Given the description of an element on the screen output the (x, y) to click on. 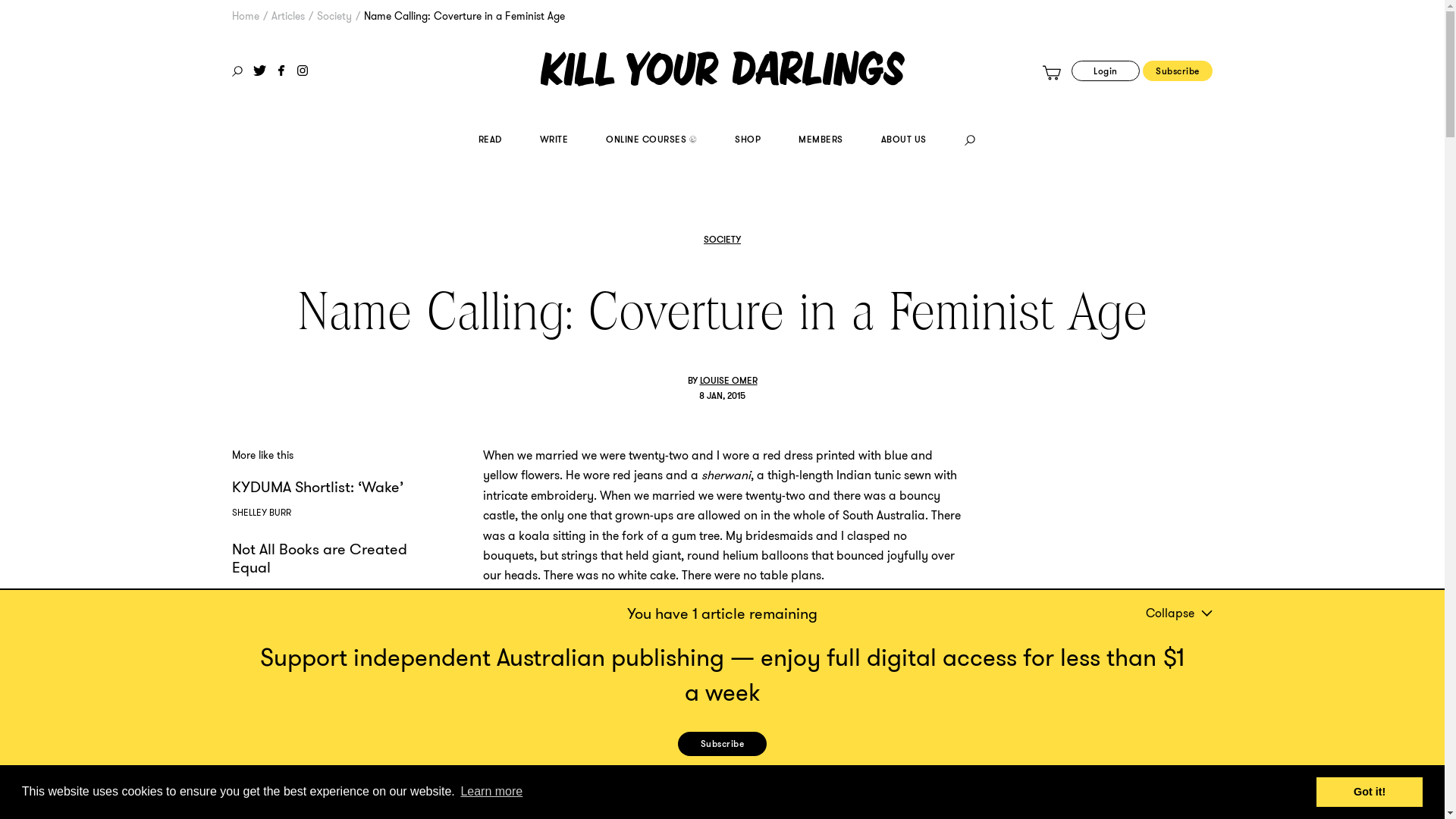
click here to log in Element type: text (798, 783)
Got it! Element type: text (1369, 791)
Collapse Element type: text (1172, 612)
Login Element type: text (1105, 70)
SHELLEY BURR Element type: text (261, 511)
KATE GOLDSWORTHY Element type: text (277, 691)
SOCIETY Element type: text (721, 238)
Instagram Element type: hover (302, 70)
READ Element type: text (489, 140)
View your shopping cart Element type: hover (1051, 72)
MEMBERS Element type: text (820, 140)
Subscribe Element type: text (1177, 70)
Twitter Element type: hover (259, 70)
ABOUT US Element type: text (903, 140)
Society Element type: text (333, 15)
Not All Books are Created Equal Element type: text (319, 557)
Subscribe Element type: text (722, 743)
Facebook Element type: hover (281, 70)
LOUISE OMER Element type: text (727, 379)
SHOP Element type: text (747, 140)
Limitless Diversity: Fanfiction and the Future of the Book Element type: text (318, 648)
Learn more Element type: text (491, 791)
SAMANTHA FORGE Element type: text (271, 592)
Home Element type: text (245, 15)
Articles Element type: text (287, 15)
WRITE Element type: text (553, 140)
